Given the description of an element on the screen output the (x, y) to click on. 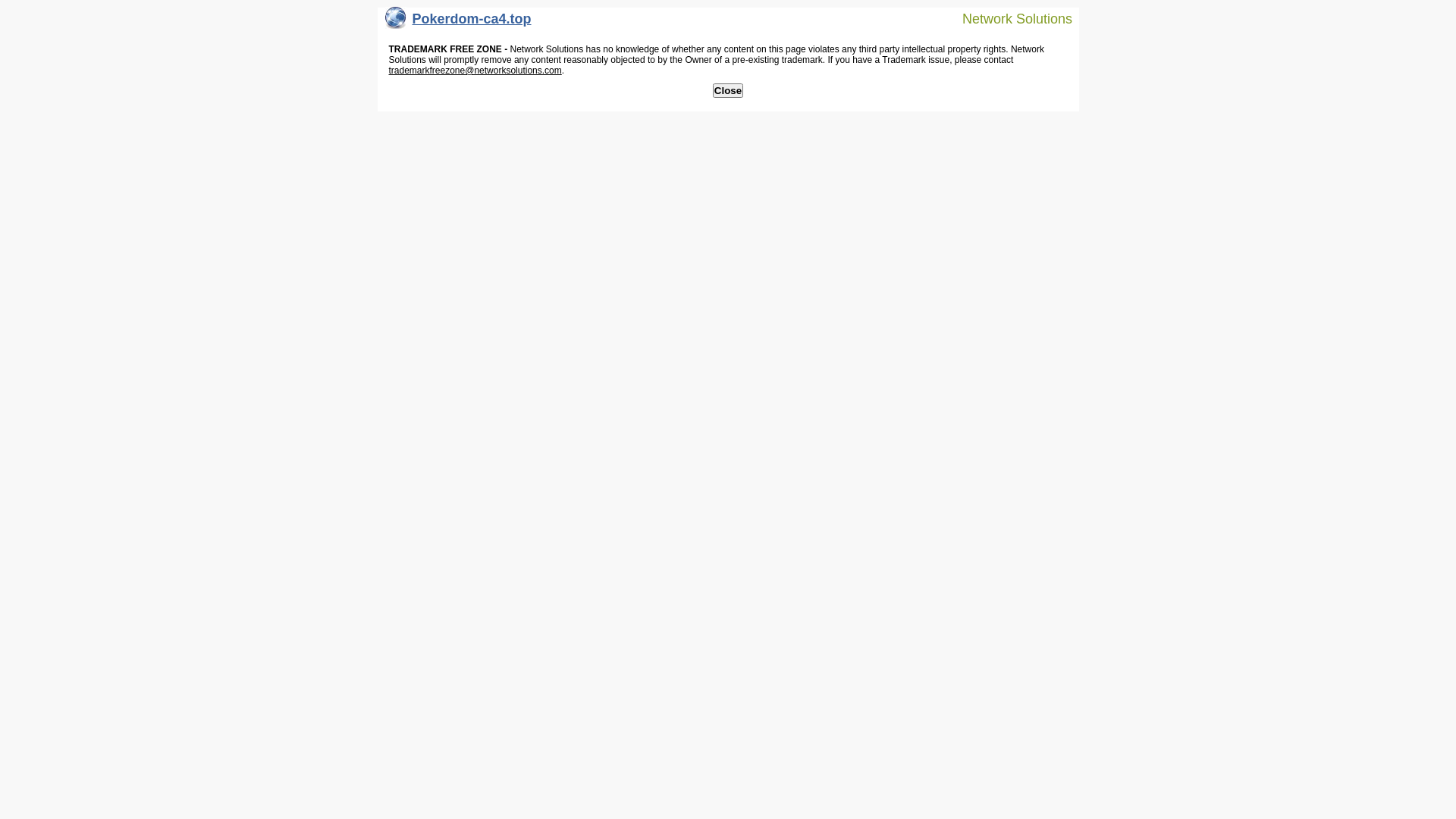
Close Element type: text (727, 90)
trademarkfreezone@networksolutions.com Element type: text (474, 70)
Pokerdom-ca4.top Element type: text (458, 21)
Network Solutions Element type: text (1007, 17)
